Given the description of an element on the screen output the (x, y) to click on. 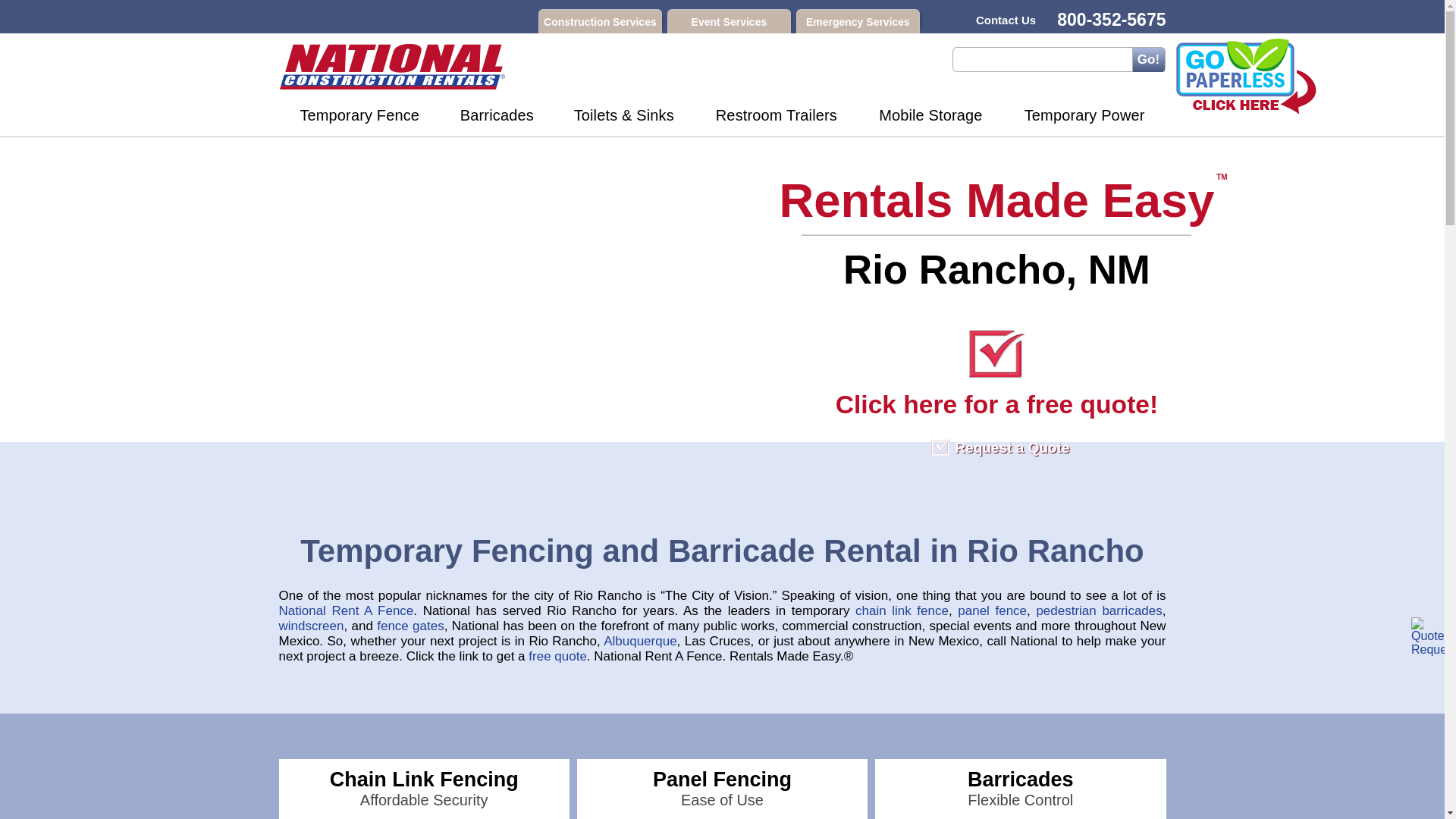
Event Services (728, 21)
Go Paperless (1246, 76)
Search (1147, 59)
Construction Services (600, 21)
Temporary Fence (360, 118)
Barricades (497, 118)
Emergency Services (858, 21)
800-352-5675 (1106, 19)
Contact Us (996, 19)
Search (1147, 59)
